Given the description of an element on the screen output the (x, y) to click on. 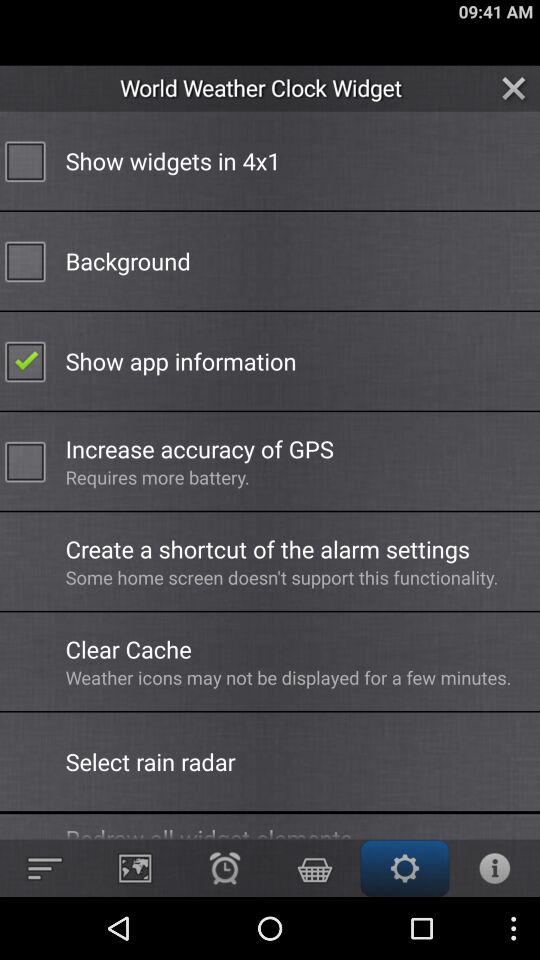
click paper map icon (134, 868)
